Given the description of an element on the screen output the (x, y) to click on. 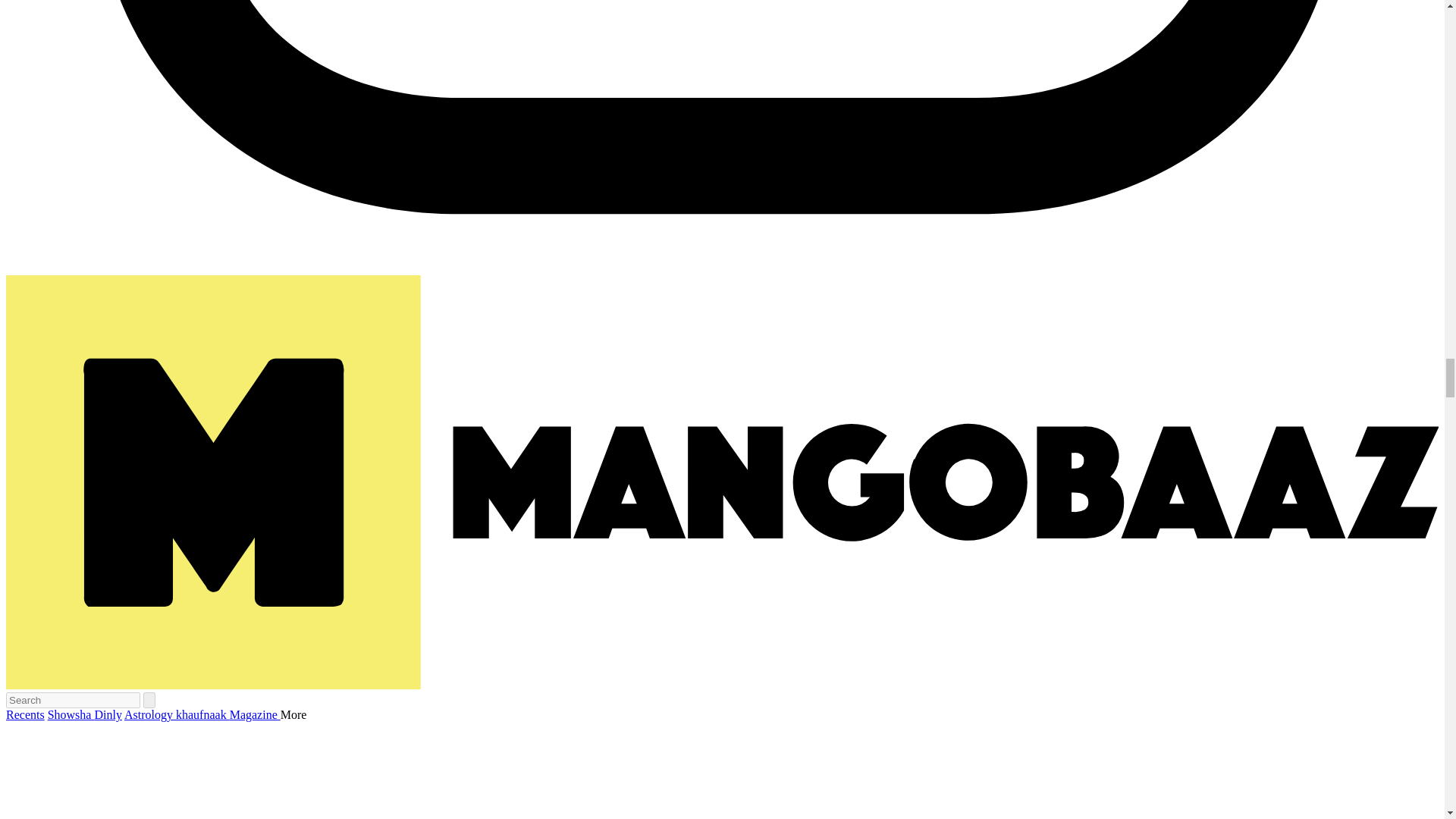
khaufnaak (203, 714)
Showsha (71, 714)
Magazine (255, 714)
Astrology (149, 714)
Recents (25, 714)
MangoBaaz Magazine (255, 714)
Dinly (107, 714)
